Given the description of an element on the screen output the (x, y) to click on. 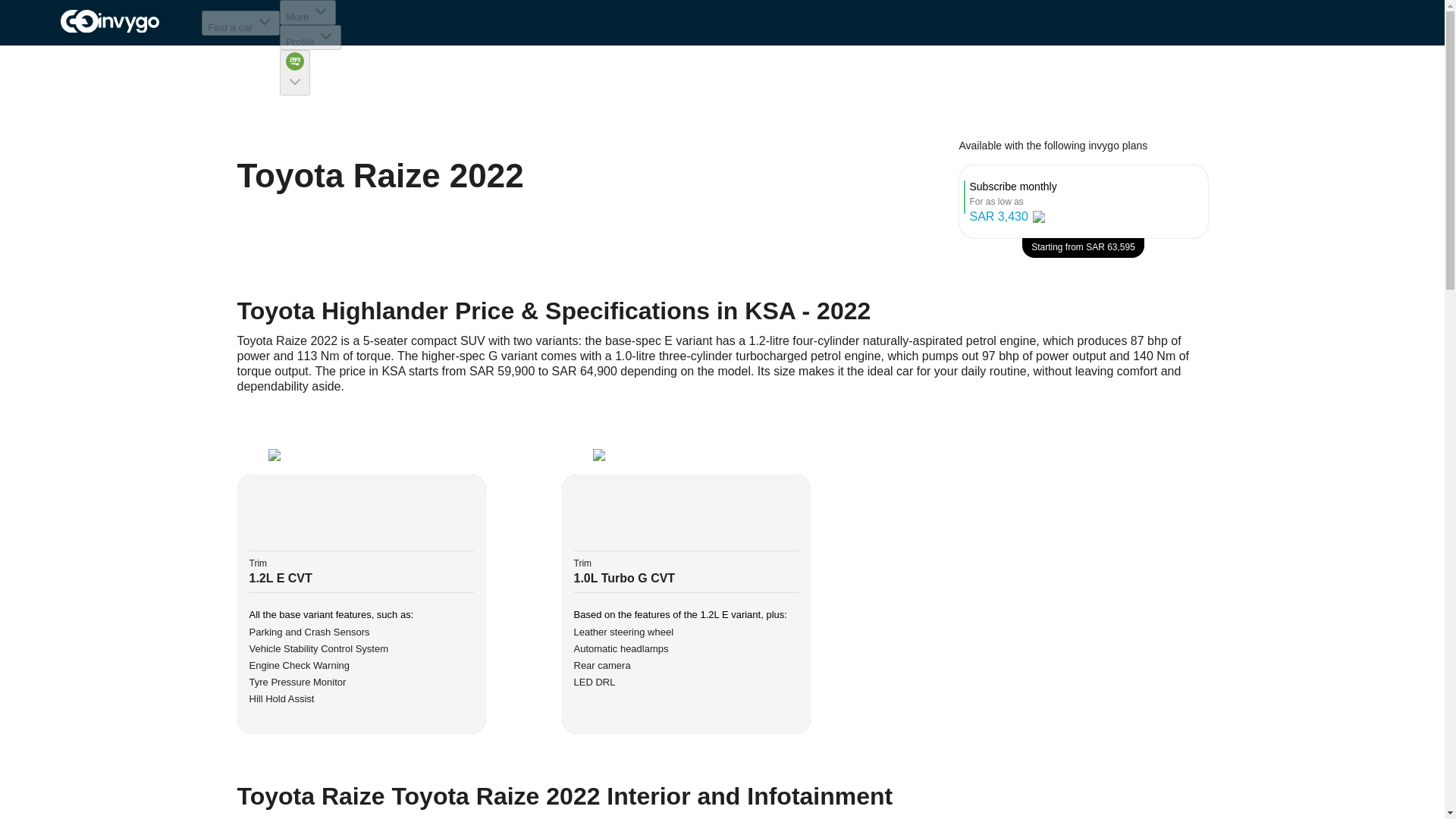
Profile (309, 37)
Find a car (240, 23)
1.2L E CVT (279, 577)
1.0L Turbo G CVT (624, 577)
More (307, 12)
SAR 3,430 (1013, 217)
SAR 3,430 (998, 217)
